Given the description of an element on the screen output the (x, y) to click on. 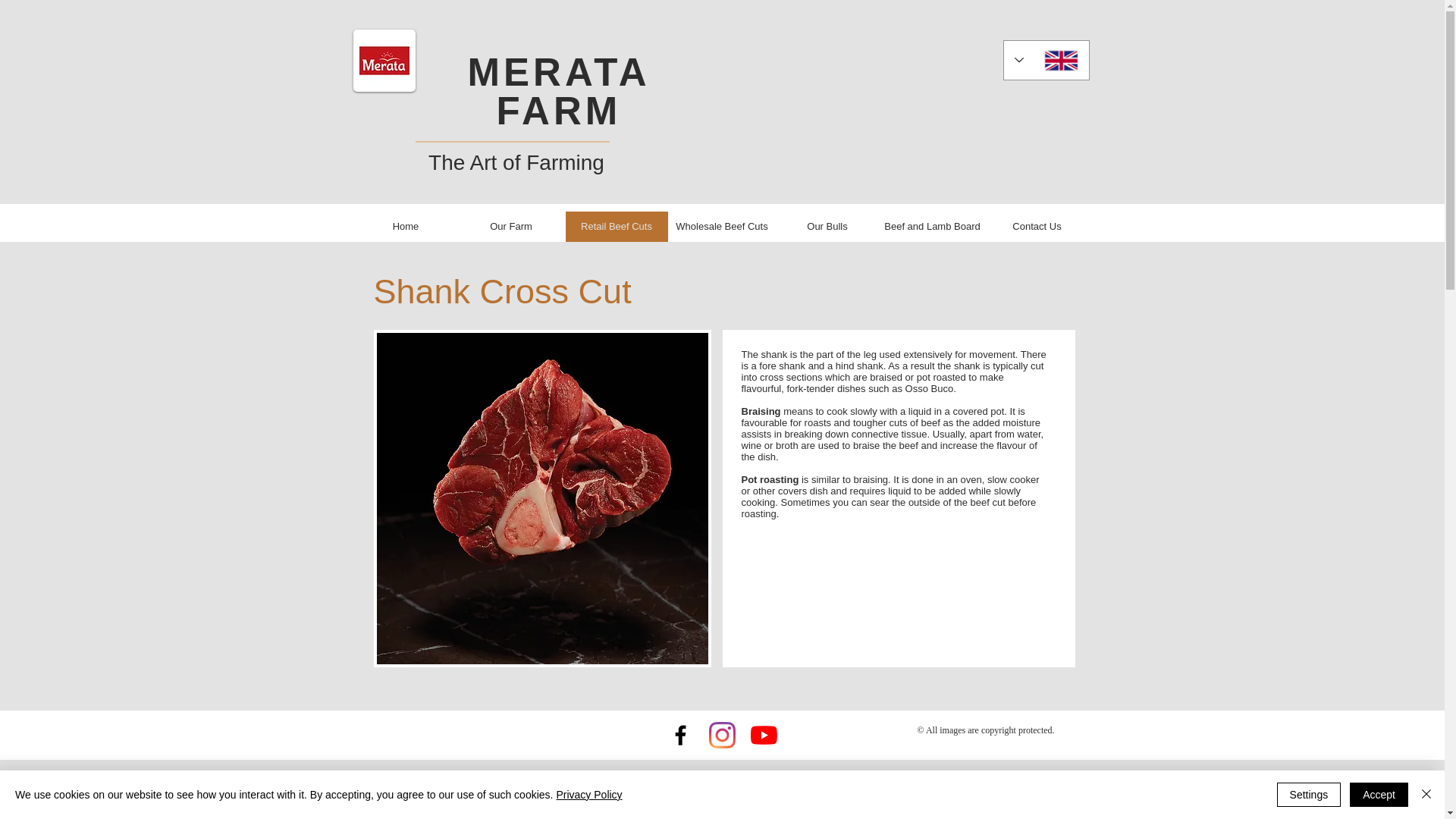
Privacy Policy (588, 794)
Beef and Lamb Board (931, 226)
Accept (1378, 794)
Contact Us (1036, 226)
Wholesale Beef Cuts (721, 226)
Our Bulls (827, 226)
Our Farm (511, 226)
Retail Beef Cuts (617, 226)
Home (406, 226)
The Art of Farming (516, 162)
MERATA FARM (558, 91)
